Given the description of an element on the screen output the (x, y) to click on. 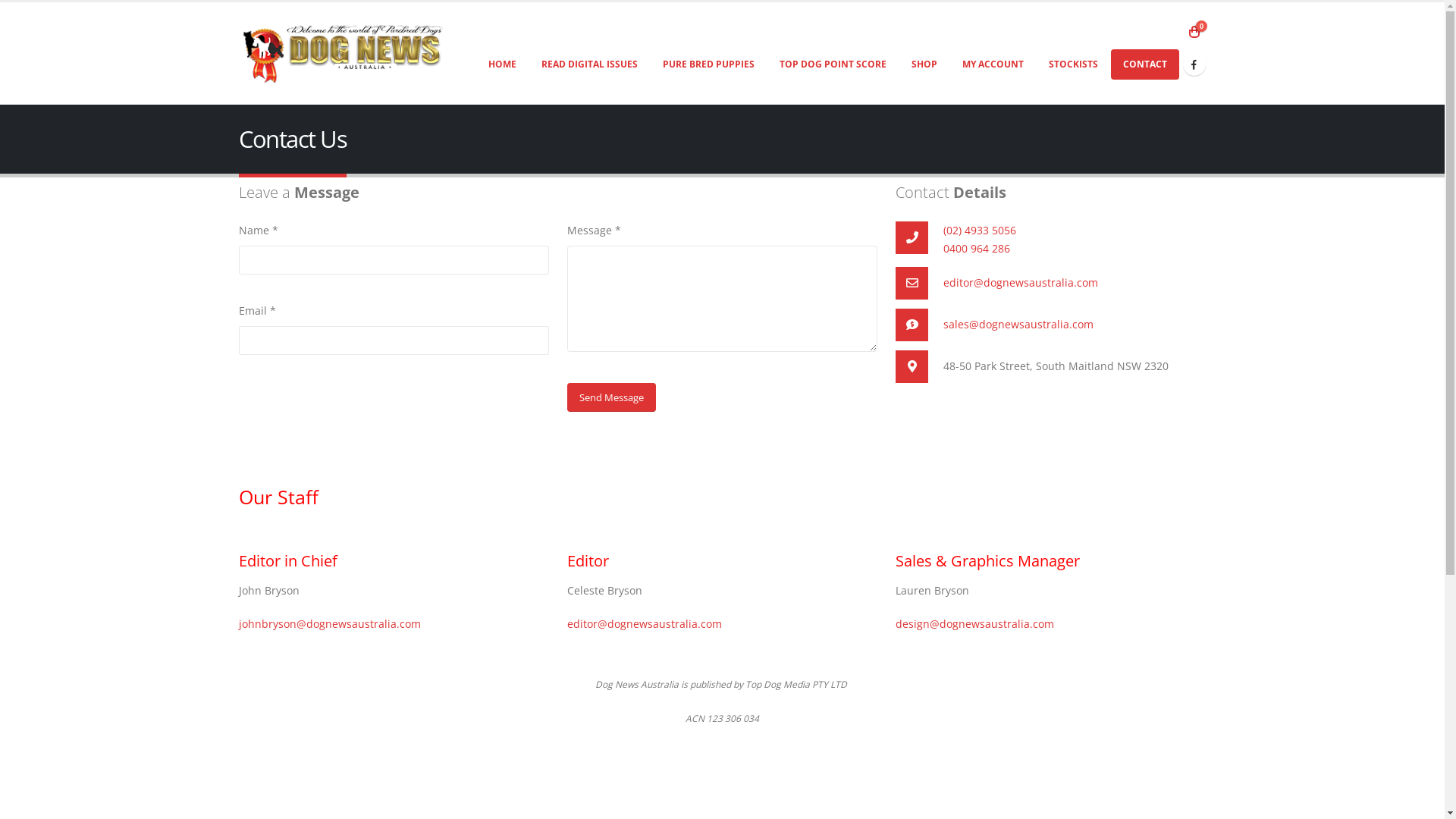
0400 964 286 Element type: text (976, 248)
design@dognewsaustralia.com Element type: text (974, 623)
johnbryson@dognewsaustralia.com Element type: text (329, 623)
SHOP Element type: text (924, 64)
MY ACCOUNT Element type: text (992, 64)
STOCKISTS Element type: text (1072, 64)
sales@dognewsaustralia.com Element type: text (1018, 323)
READ DIGITAL ISSUES Element type: text (589, 64)
Dog News Australia - Australia's No. 1 Show Dog Publication Element type: hover (342, 53)
CONTACT Element type: text (1144, 64)
Send Message Element type: text (611, 396)
TOP DOG POINT SCORE Element type: text (832, 64)
editor@dognewsaustralia.com Element type: text (1020, 282)
(02) 4933 5056 Element type: text (979, 229)
Facebook Element type: hover (1194, 64)
PURE BRED PUPPIES Element type: text (708, 64)
editor@dognewsaustralia.com Element type: text (644, 623)
HOME Element type: text (502, 64)
